Given the description of an element on the screen output the (x, y) to click on. 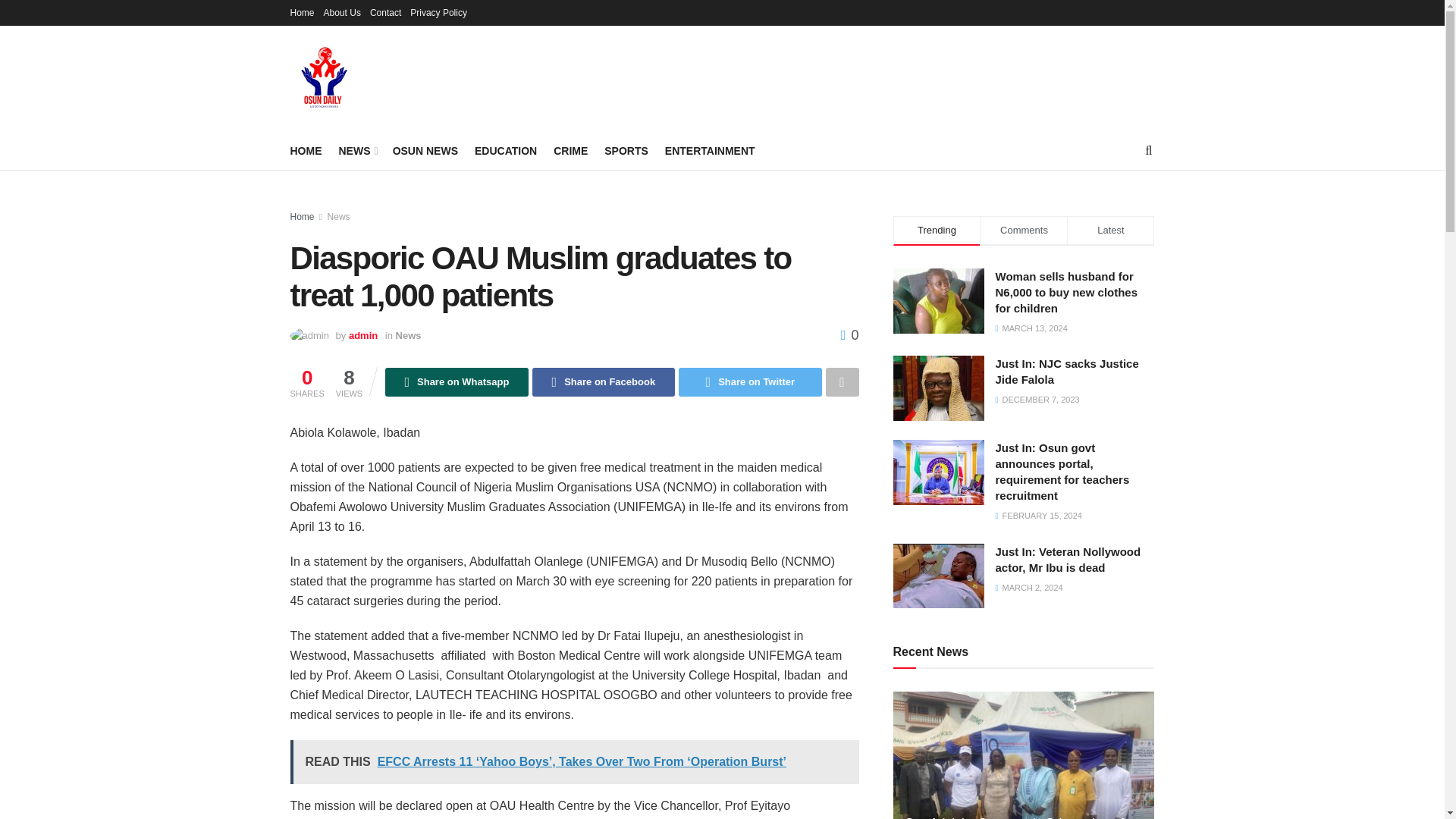
ENTERTAINMENT (710, 150)
Home (301, 216)
Privacy Policy (438, 12)
About Us (342, 12)
EDUCATION (505, 150)
SPORTS (625, 150)
NEWS (356, 150)
Home (301, 12)
OSUN NEWS (425, 150)
CRIME (570, 150)
Contact (385, 12)
HOME (305, 150)
News (338, 216)
admin (363, 335)
